Given the description of an element on the screen output the (x, y) to click on. 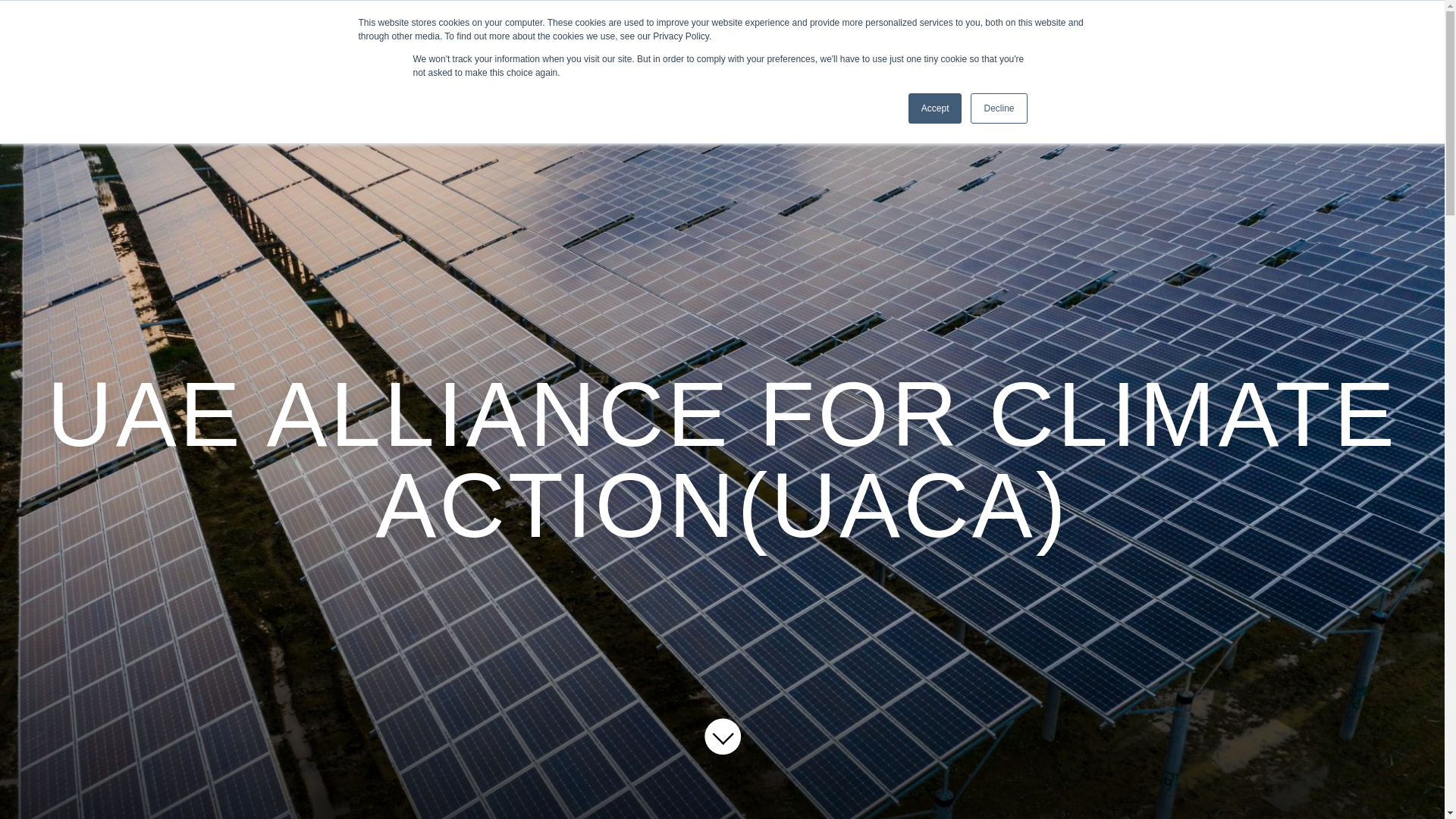
BECOME A LEADER OF CHANGE (1193, 21)
Accept (935, 108)
Decline (998, 108)
DONATE (1387, 21)
GET TO KNOW US (279, 76)
OUR PROJECTS (456, 76)
